Given the description of an element on the screen output the (x, y) to click on. 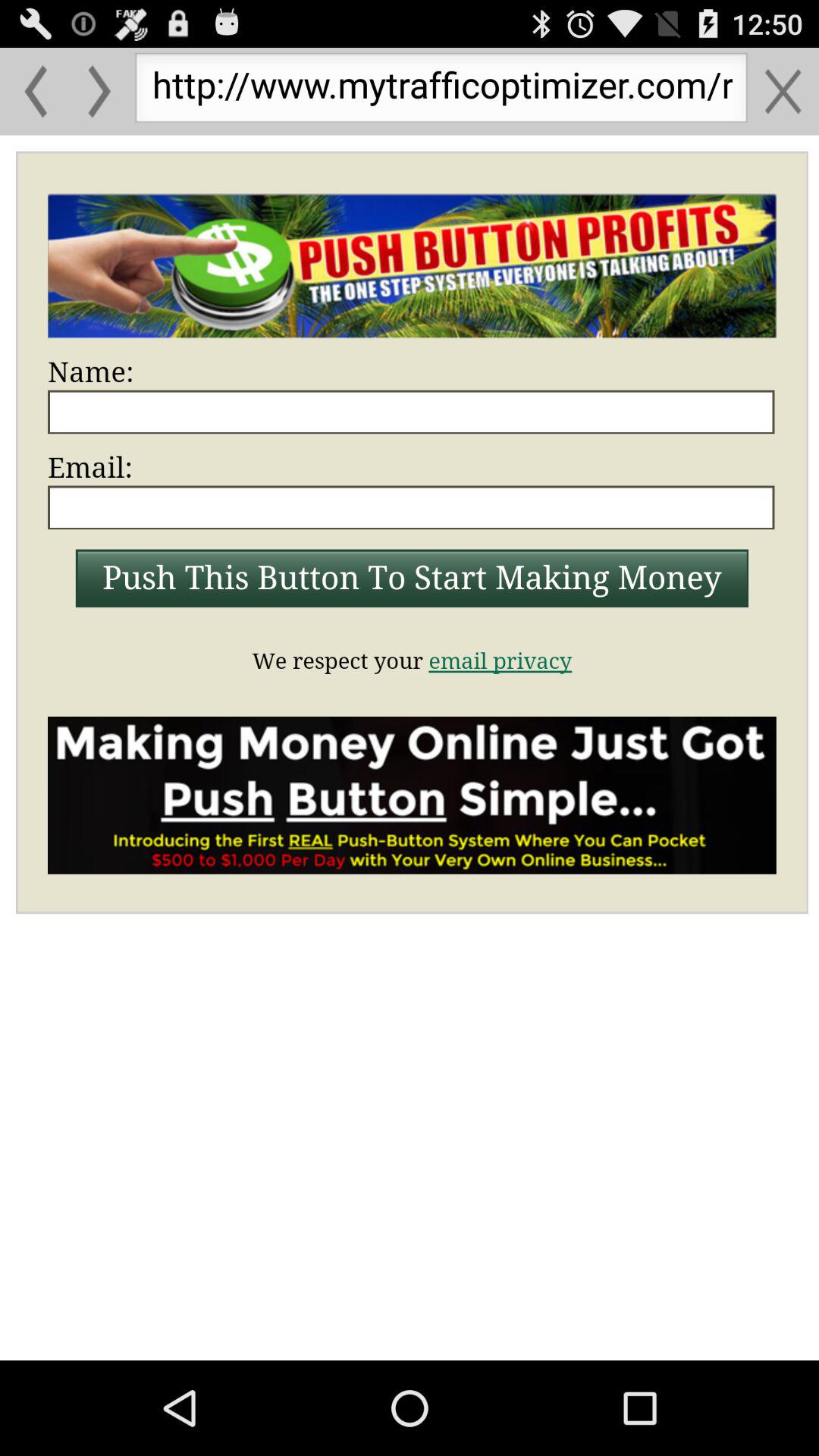
close (783, 91)
